Given the description of an element on the screen output the (x, y) to click on. 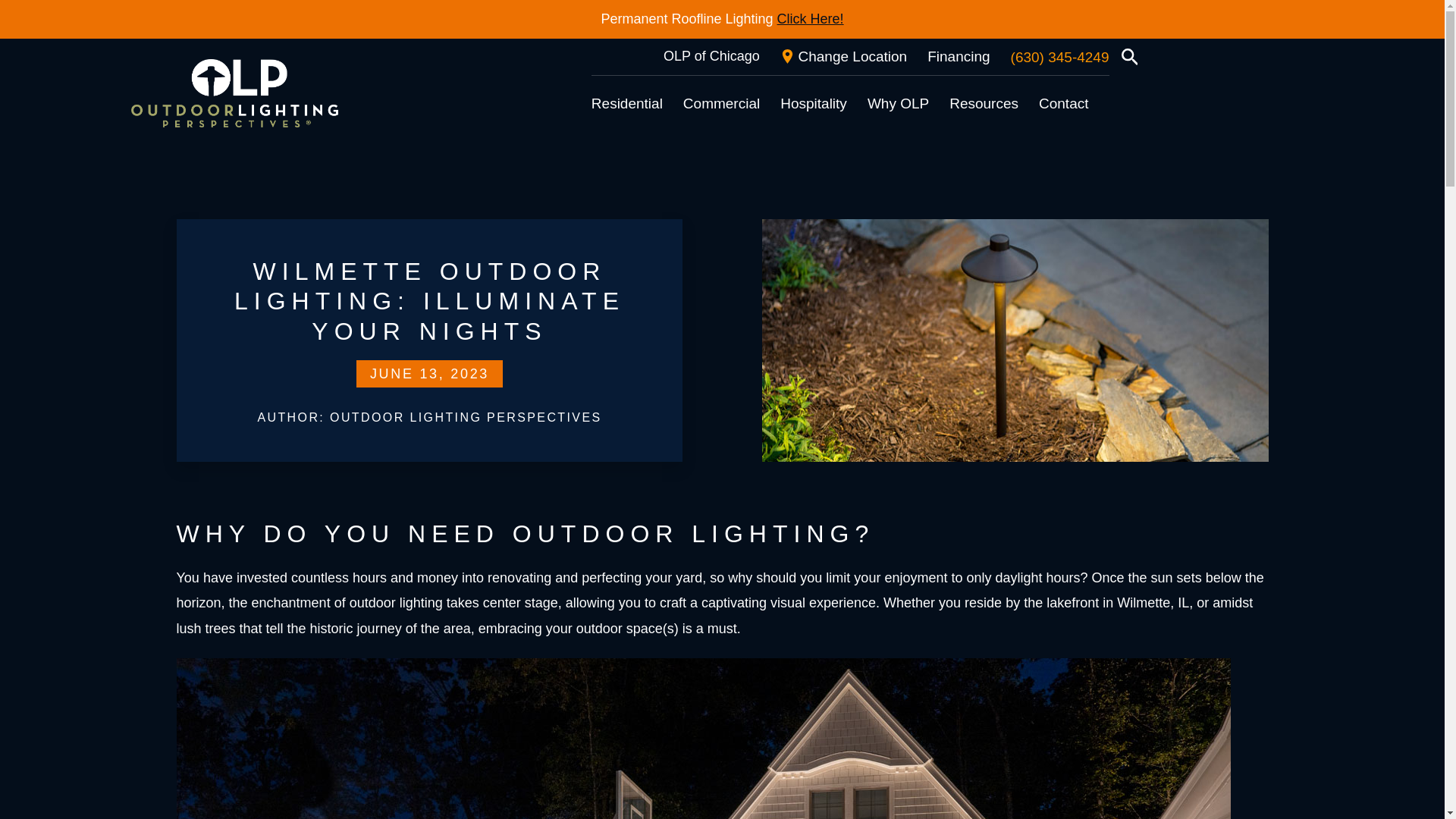
Commercial (721, 103)
Change Location (843, 56)
Click Here! (810, 18)
Hospitality (813, 103)
Residential (626, 103)
Outdoor Lighting Perspectives (234, 92)
Financing (958, 56)
